Given the description of an element on the screen output the (x, y) to click on. 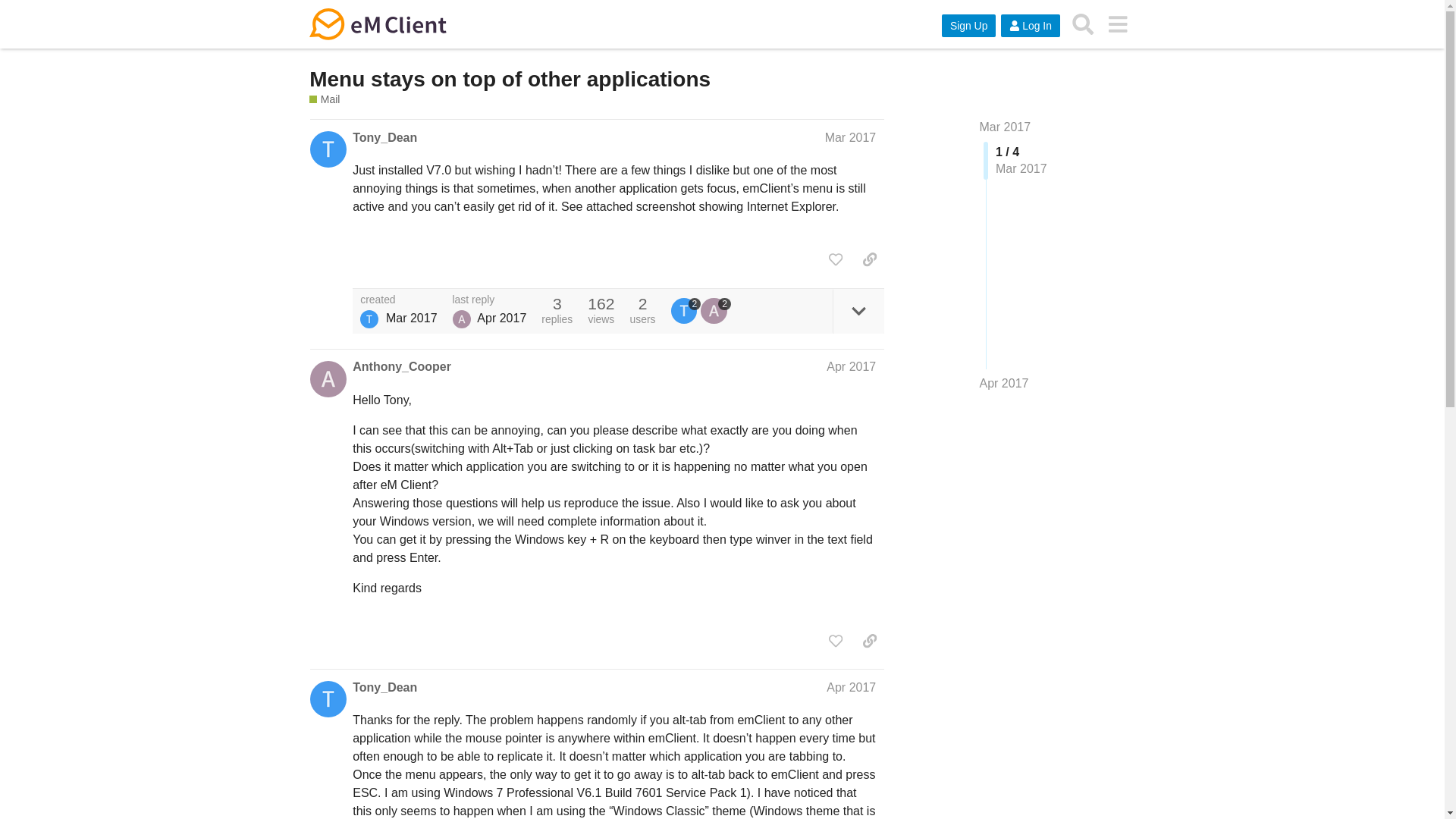
2 (686, 310)
Mail (323, 99)
Sign Up (968, 25)
copy a link to this post to clipboard (869, 258)
expand topic details (857, 311)
Anthony Cooper (461, 319)
Mar 31, 2017 8:40 pm (411, 318)
Apr 2017 (851, 686)
Post date (850, 137)
Mar 2017 (1004, 126)
Problems with sending, receiving and displaying of messages (323, 99)
Mar 2017 (850, 137)
Apr 7, 2017 7:55 pm (1004, 382)
like this post (835, 258)
Apr 2017 (851, 366)
